Given the description of an element on the screen output the (x, y) to click on. 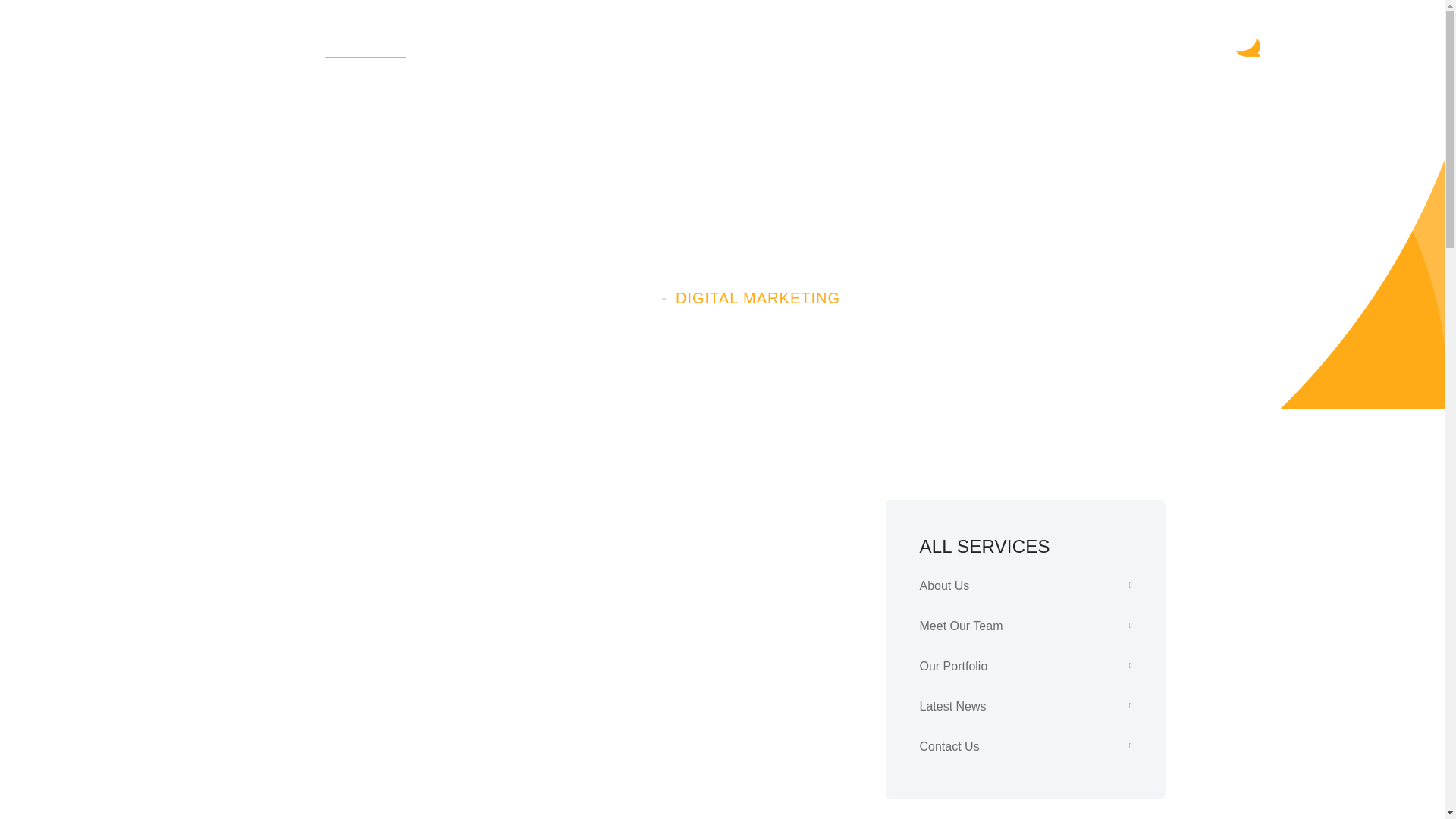
PARTNER WITH US (1157, 42)
SERVICES (365, 42)
About Us (1024, 585)
ABOUT US (254, 42)
Our Portfolio (1024, 665)
CONTACT US (1003, 42)
Meet Our Team (1024, 626)
PORTFOLIO (636, 42)
OUR PACKAGES (498, 42)
BLOG (899, 42)
